Given the description of an element on the screen output the (x, y) to click on. 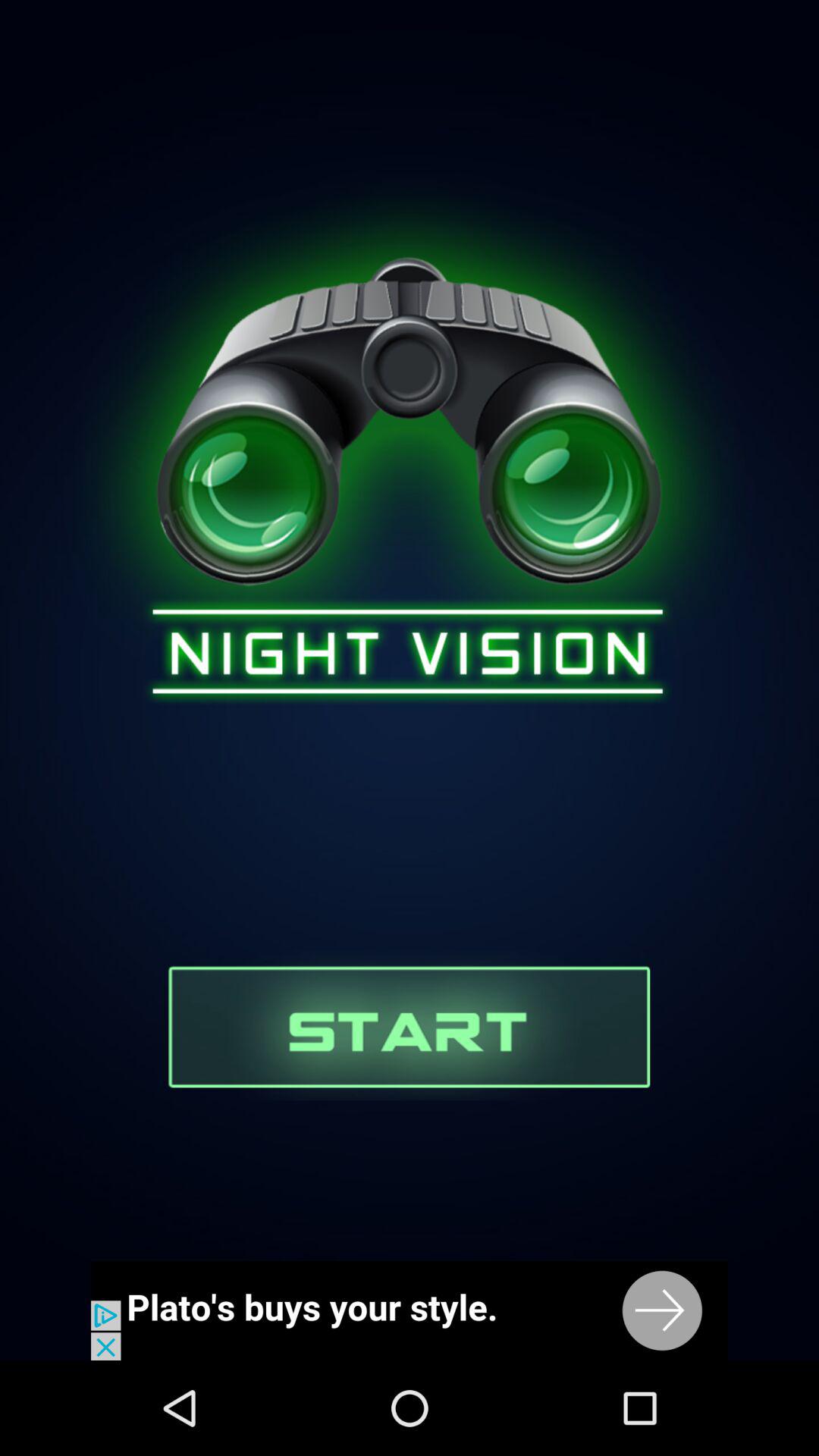
press start (409, 1024)
